Given the description of an element on the screen output the (x, y) to click on. 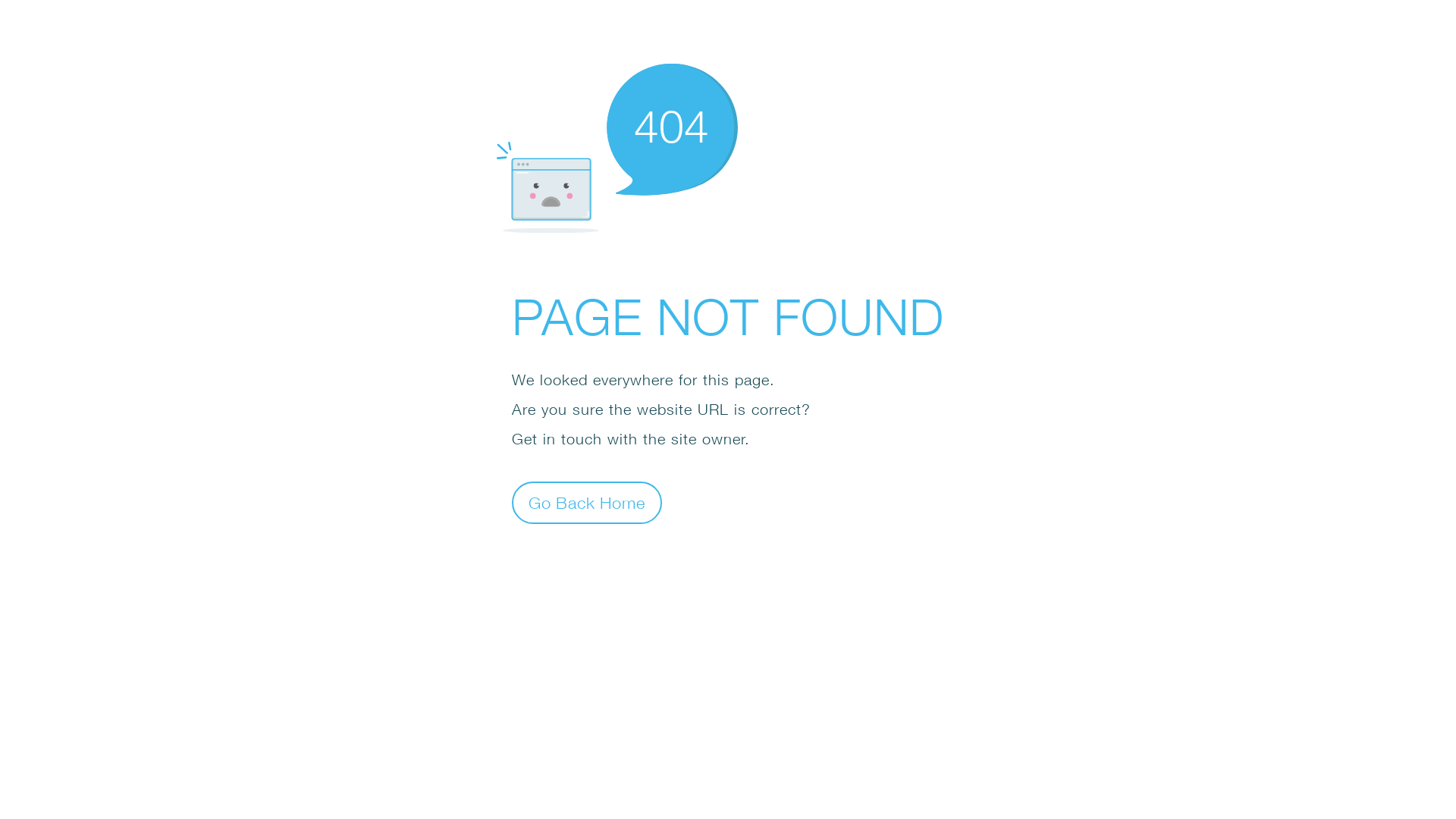
Go Back Home Element type: text (586, 502)
